Given the description of an element on the screen output the (x, y) to click on. 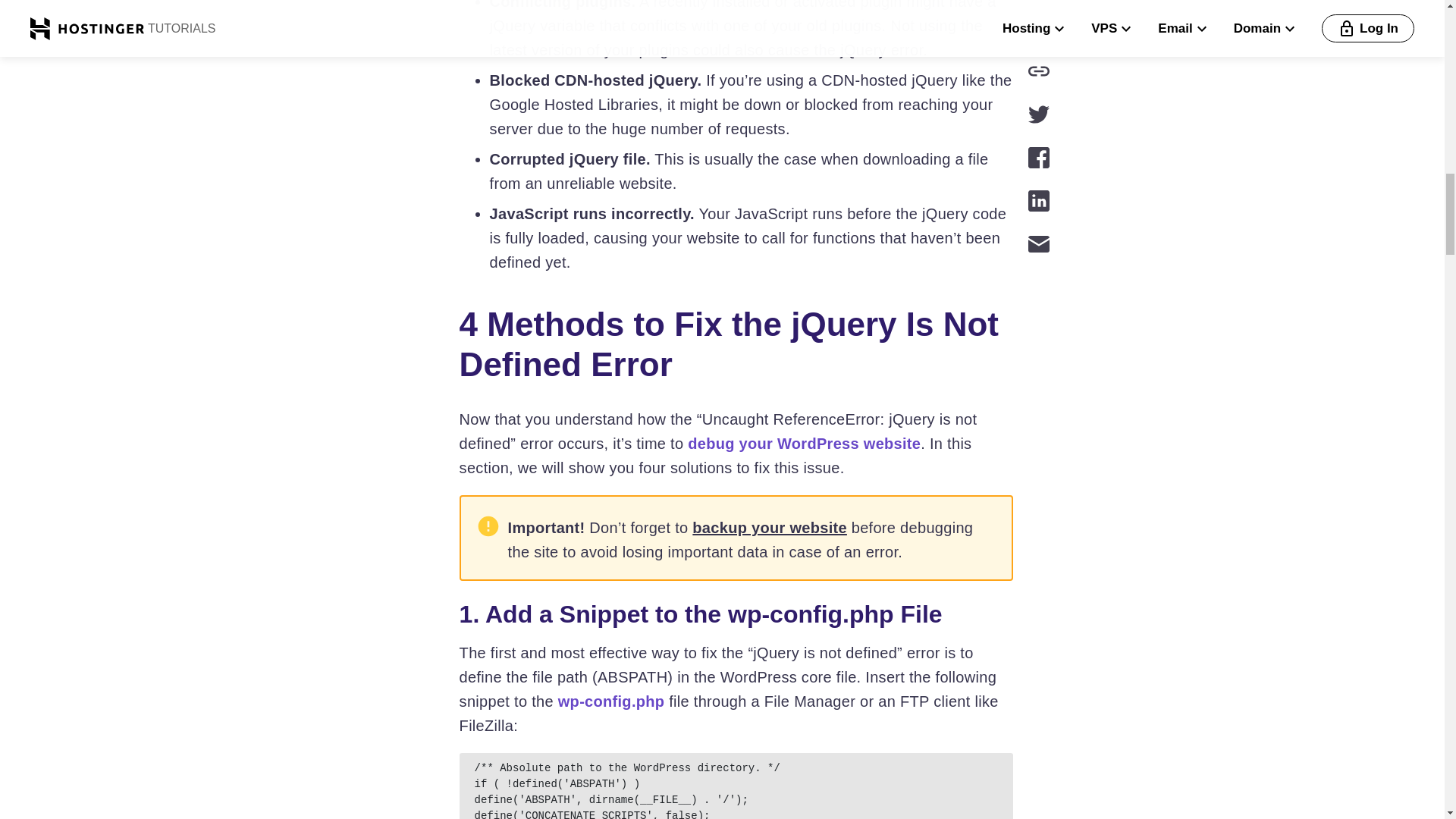
backup your website (770, 527)
wp-config.php (611, 701)
debug your WordPress website (803, 443)
